Given the description of an element on the screen output the (x, y) to click on. 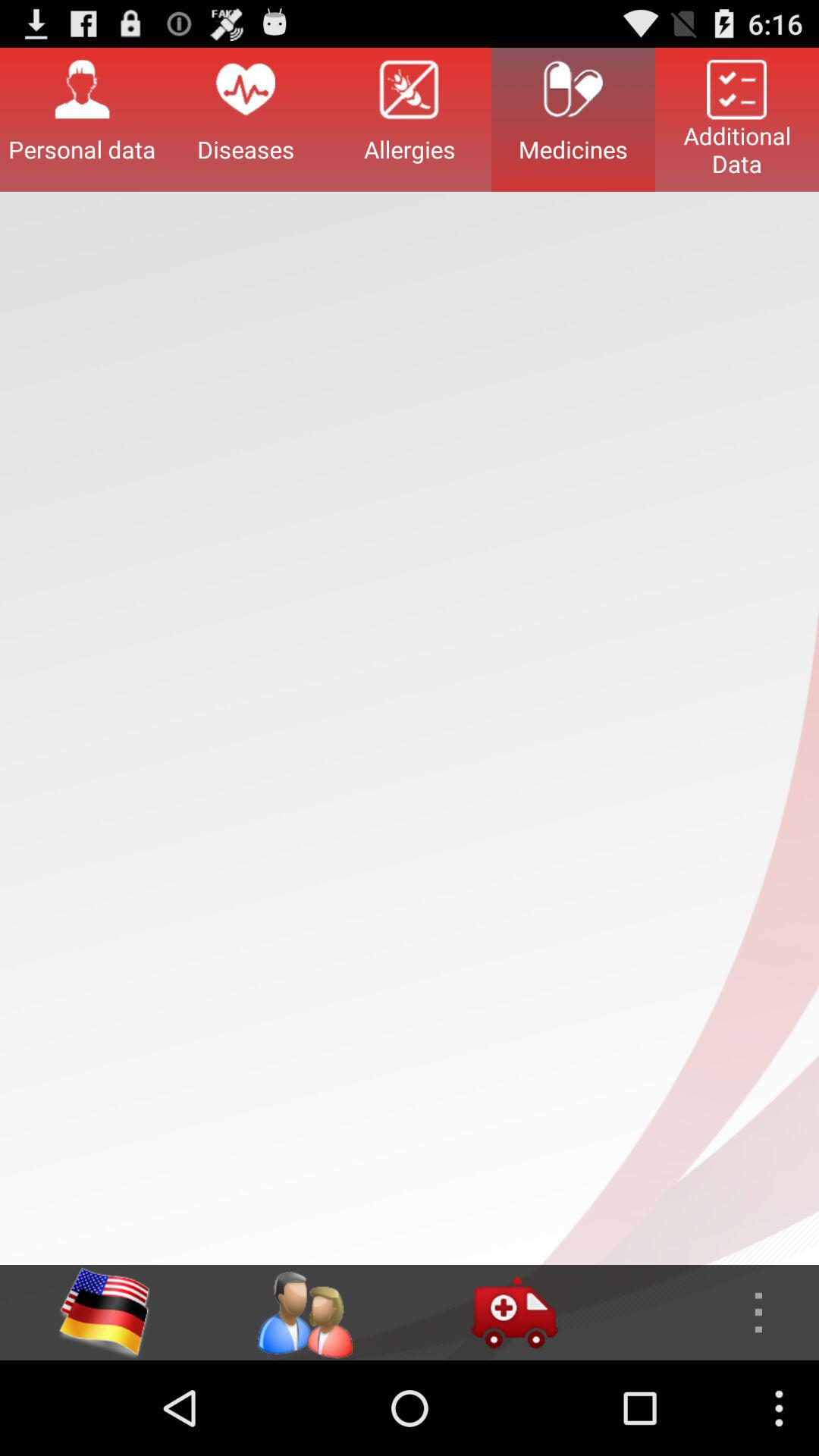
turn on button to the right of the diseases icon (409, 119)
